Given the description of an element on the screen output the (x, y) to click on. 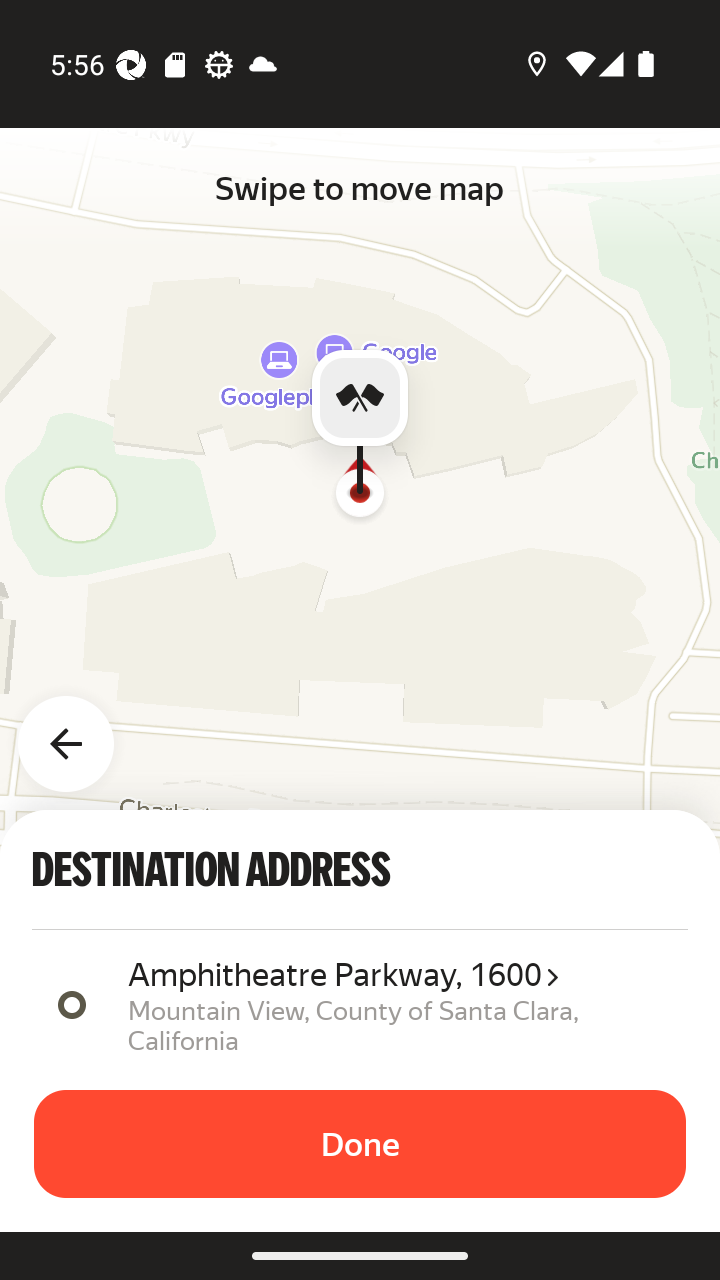
Back (78, 732)
Done (359, 1144)
